Given the description of an element on the screen output the (x, y) to click on. 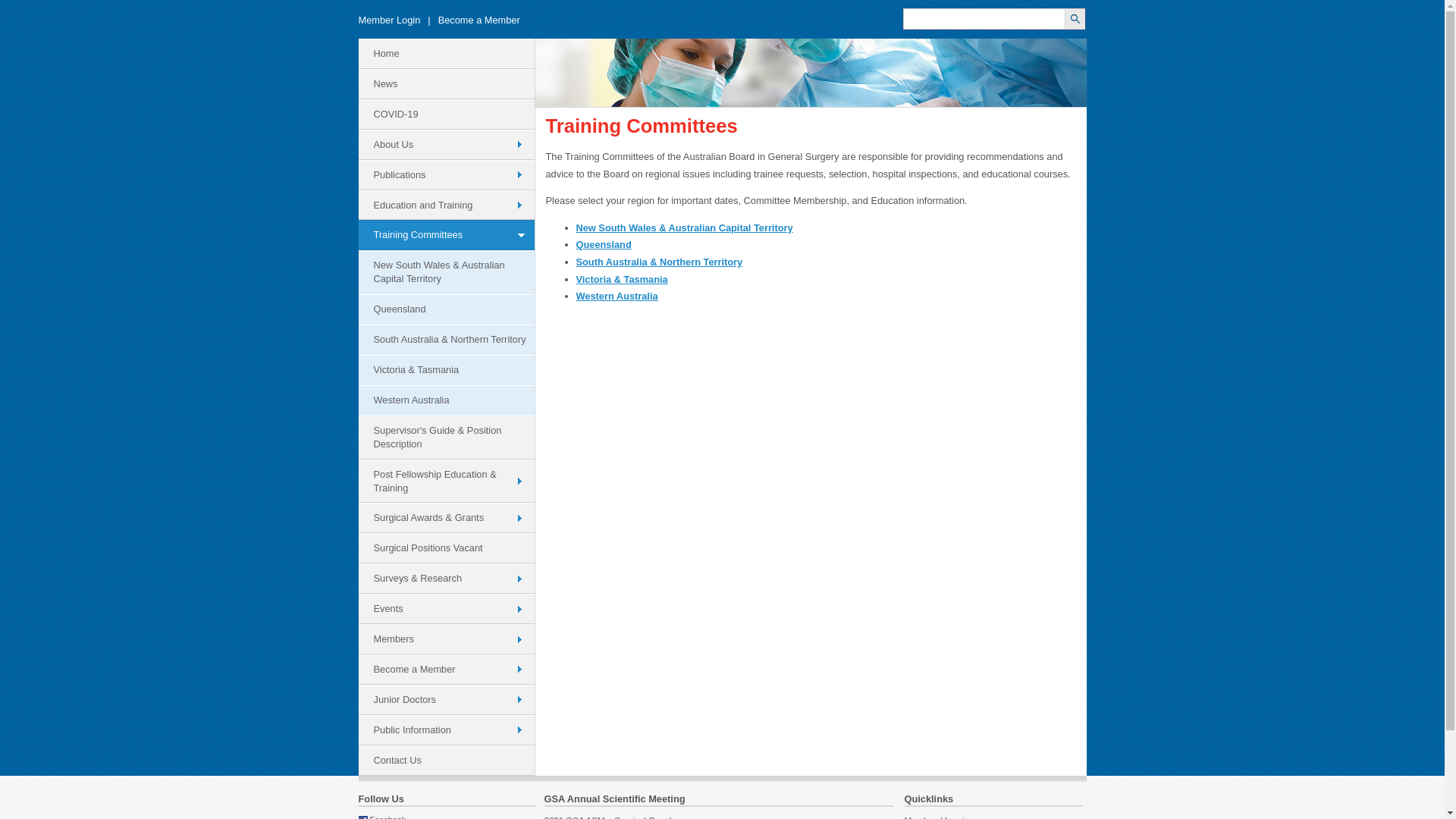
Victoria & Tasmania Element type: text (622, 279)
Publications Element type: text (445, 175)
South Australia & Northern Territory Element type: text (445, 339)
Surveys & Research Element type: text (445, 578)
Events Element type: text (445, 608)
Queensland Element type: text (445, 309)
Become a Member Element type: text (445, 669)
Contact Us Element type: text (445, 760)
Surgical Positions Vacant Element type: text (445, 548)
Supervisor's Guide & Position Description Element type: text (445, 437)
New South Wales & Australian Capital Territory Element type: text (684, 227)
Western Australia Element type: text (445, 400)
Member Login Element type: text (388, 20)
Become a Member Element type: text (479, 20)
News Element type: text (445, 84)
Training Committees Element type: text (445, 234)
Surgical Awards & Grants Element type: text (445, 517)
About Us Element type: text (445, 144)
South Australia & Northern Territory Element type: text (659, 261)
Western Australia Element type: text (617, 295)
Junior Doctors Element type: text (445, 699)
Post Fellowship Education & Training Element type: text (445, 481)
COVID-19 Element type: text (445, 114)
Queensland Element type: text (603, 244)
Public Information Element type: text (445, 730)
New South Wales & Australian Capital Territory Element type: text (445, 272)
Education and Training Element type: text (445, 205)
Victoria & Tasmania Element type: text (445, 369)
Members Element type: text (445, 639)
Home Element type: text (445, 53)
